Given the description of an element on the screen output the (x, y) to click on. 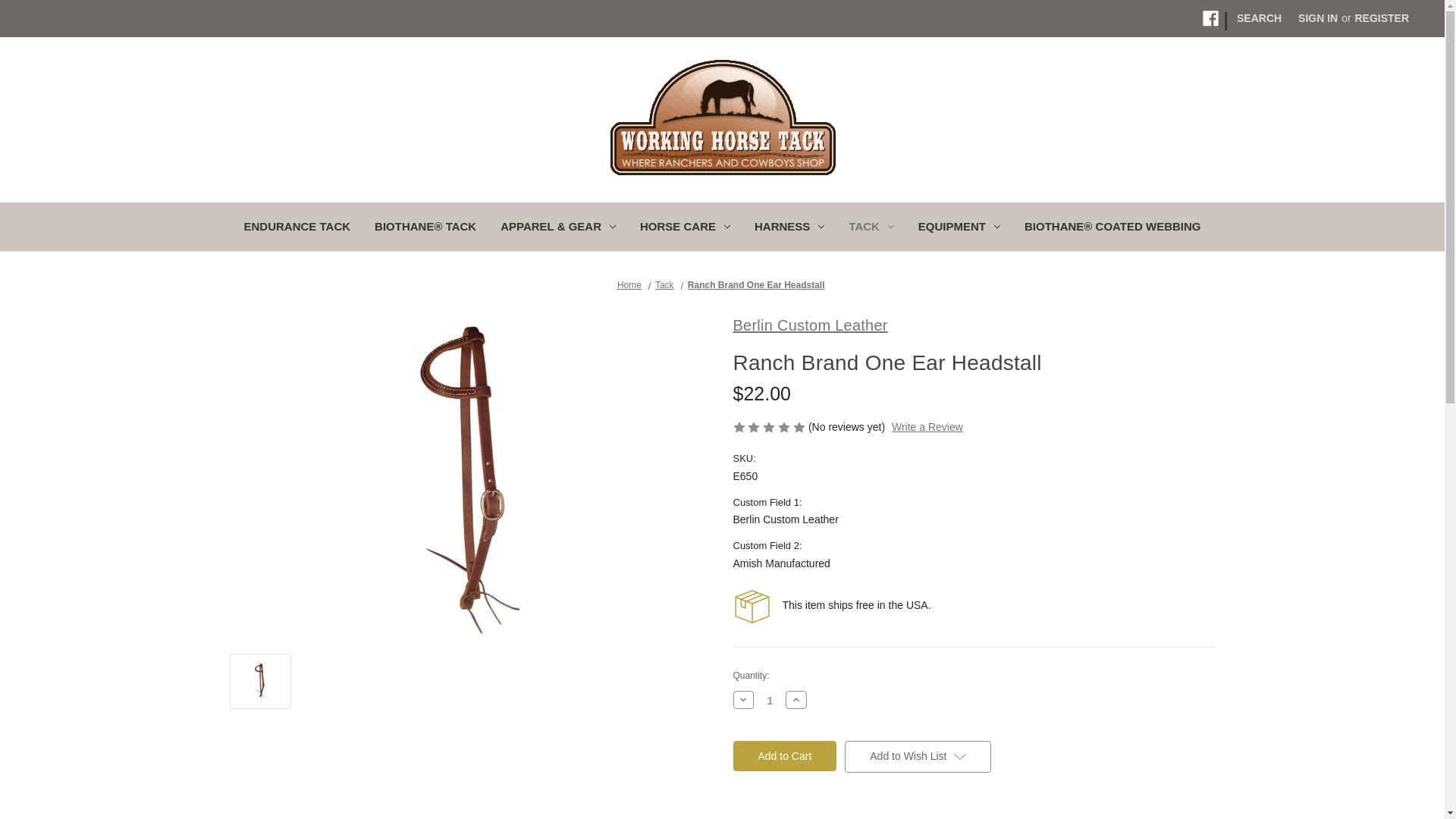
REGISTER (1380, 18)
ENDURANCE TACK (296, 228)
Facebook (1210, 18)
TACK (870, 228)
HORSE CARE (684, 228)
Working Horse Tack (722, 117)
HARNESS (788, 228)
This item ships free in the USA. (751, 606)
Add to Cart (783, 756)
1 (770, 698)
